Given the description of an element on the screen output the (x, y) to click on. 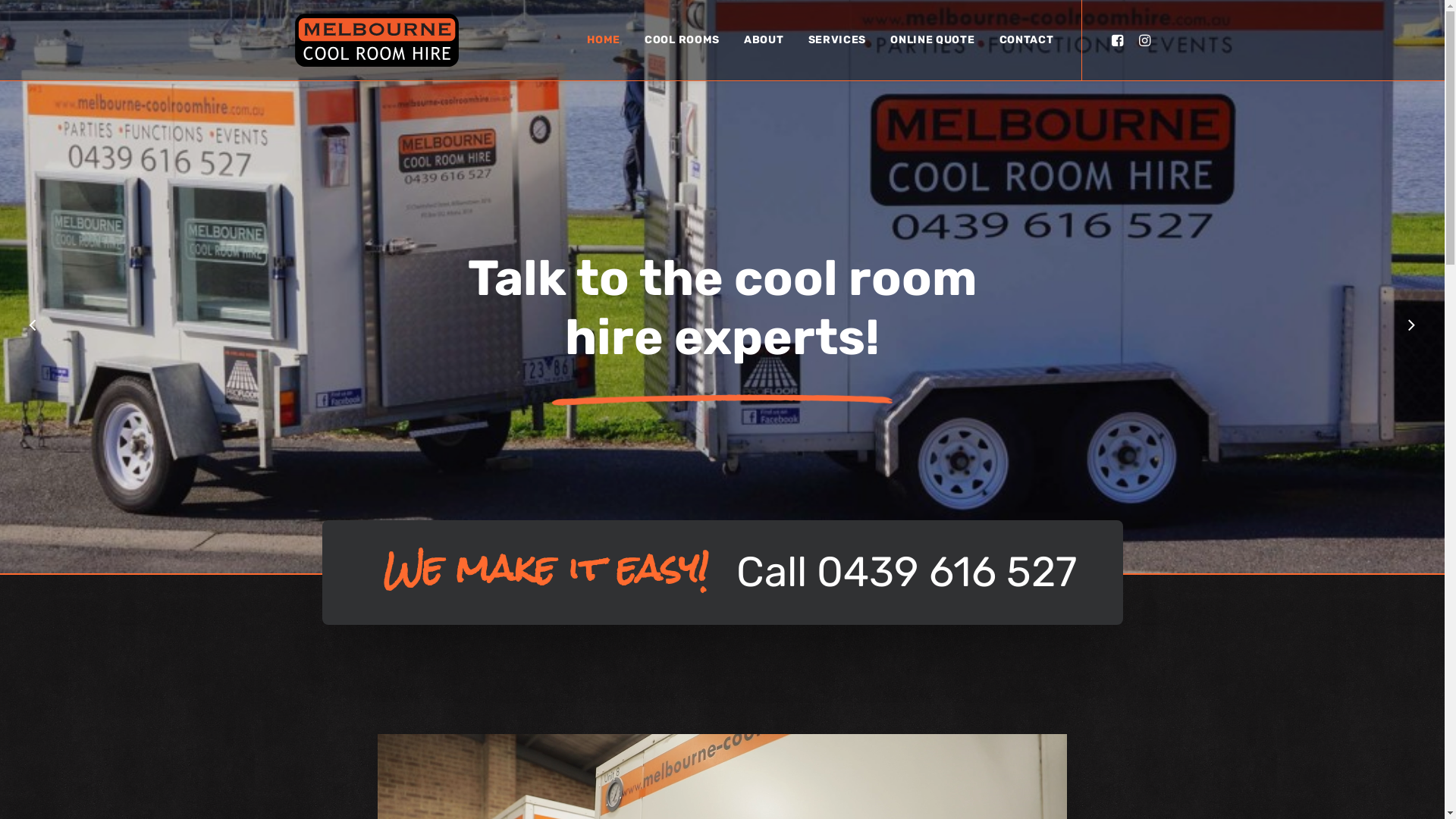
SERVICES Element type: text (837, 40)
Call 0439 616 527 Element type: text (905, 571)
HOME Element type: text (603, 40)
ONLINE QUOTE Element type: text (932, 40)
CONTACT Element type: text (1021, 40)
ABOUT Element type: text (763, 40)
COOL ROOMS Element type: text (681, 40)
